Given the description of an element on the screen output the (x, y) to click on. 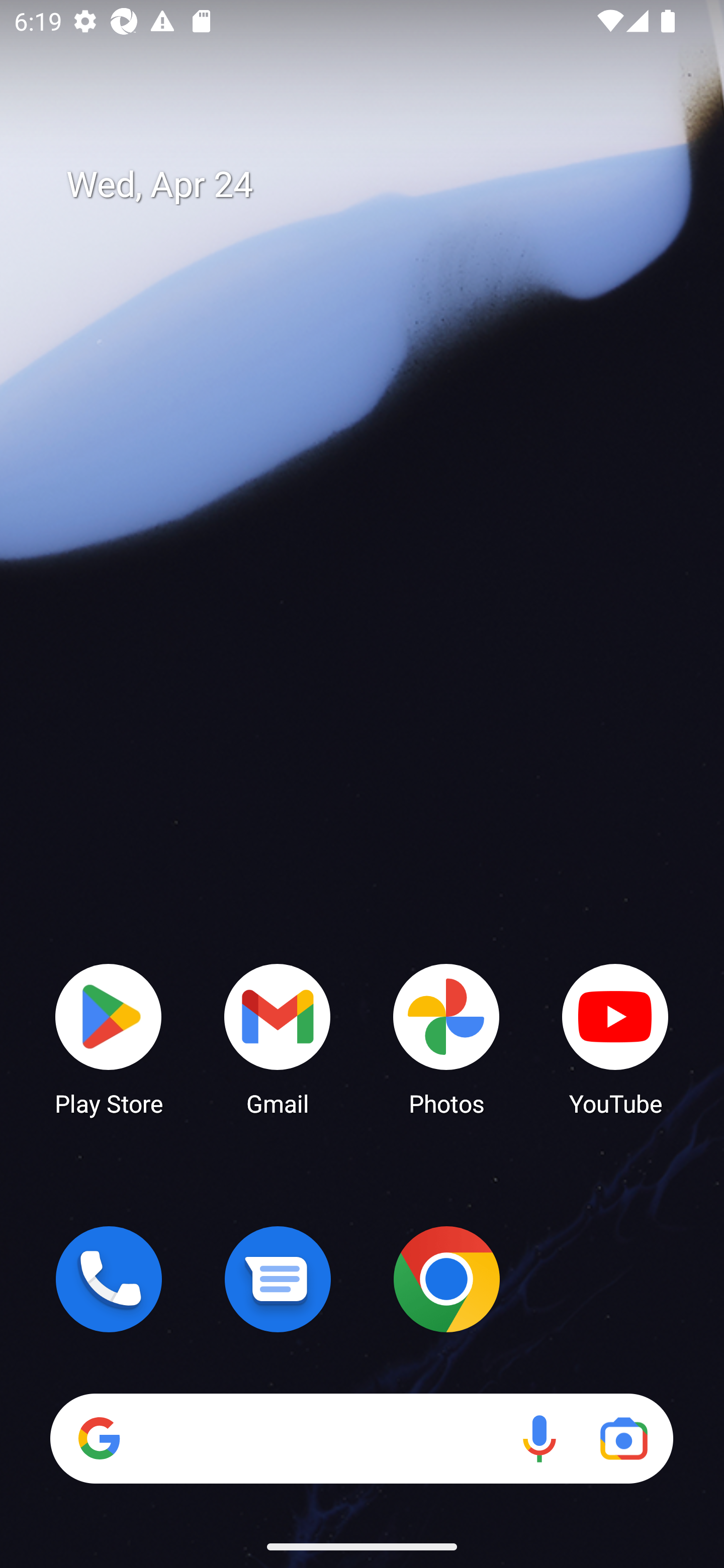
Wed, Apr 24 (375, 184)
Play Store (108, 1038)
Gmail (277, 1038)
Photos (445, 1038)
YouTube (615, 1038)
Phone (108, 1279)
Messages (277, 1279)
Chrome (446, 1279)
Search Voice search Google Lens (361, 1438)
Voice search (539, 1438)
Google Lens (623, 1438)
